Given the description of an element on the screen output the (x, y) to click on. 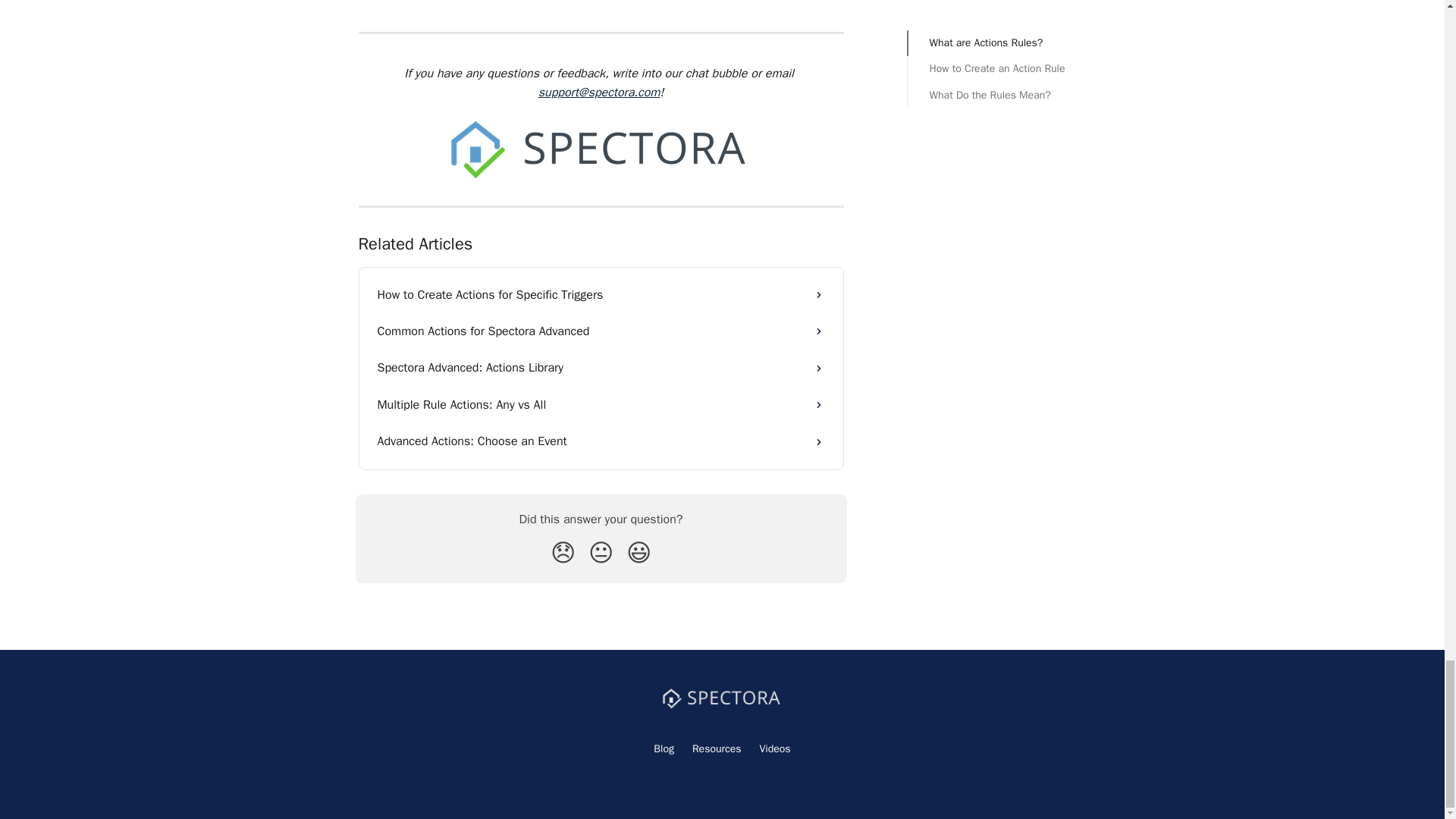
Spectora Advanced: Actions Library (601, 367)
Videos (775, 748)
Resources (717, 748)
Advanced Actions: Choose an Event (601, 441)
Multiple Rule Actions: Any vs All (601, 404)
Common Actions for Spectora Advanced (601, 330)
How to Create Actions for Specific Triggers (601, 294)
Blog (663, 748)
